Given the description of an element on the screen output the (x, y) to click on. 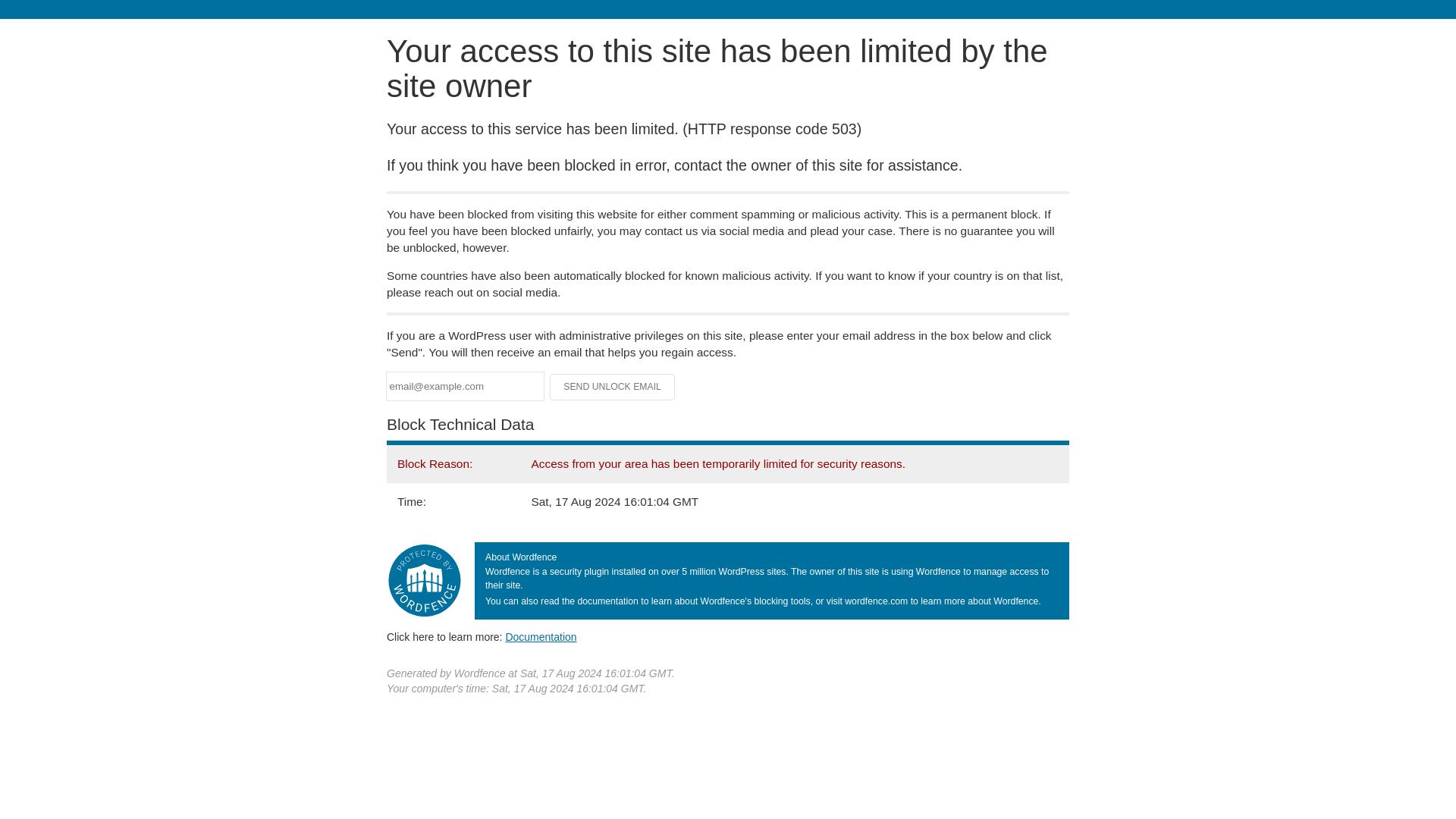
Documentation (540, 636)
Send Unlock Email (612, 386)
Send Unlock Email (612, 386)
